Given the description of an element on the screen output the (x, y) to click on. 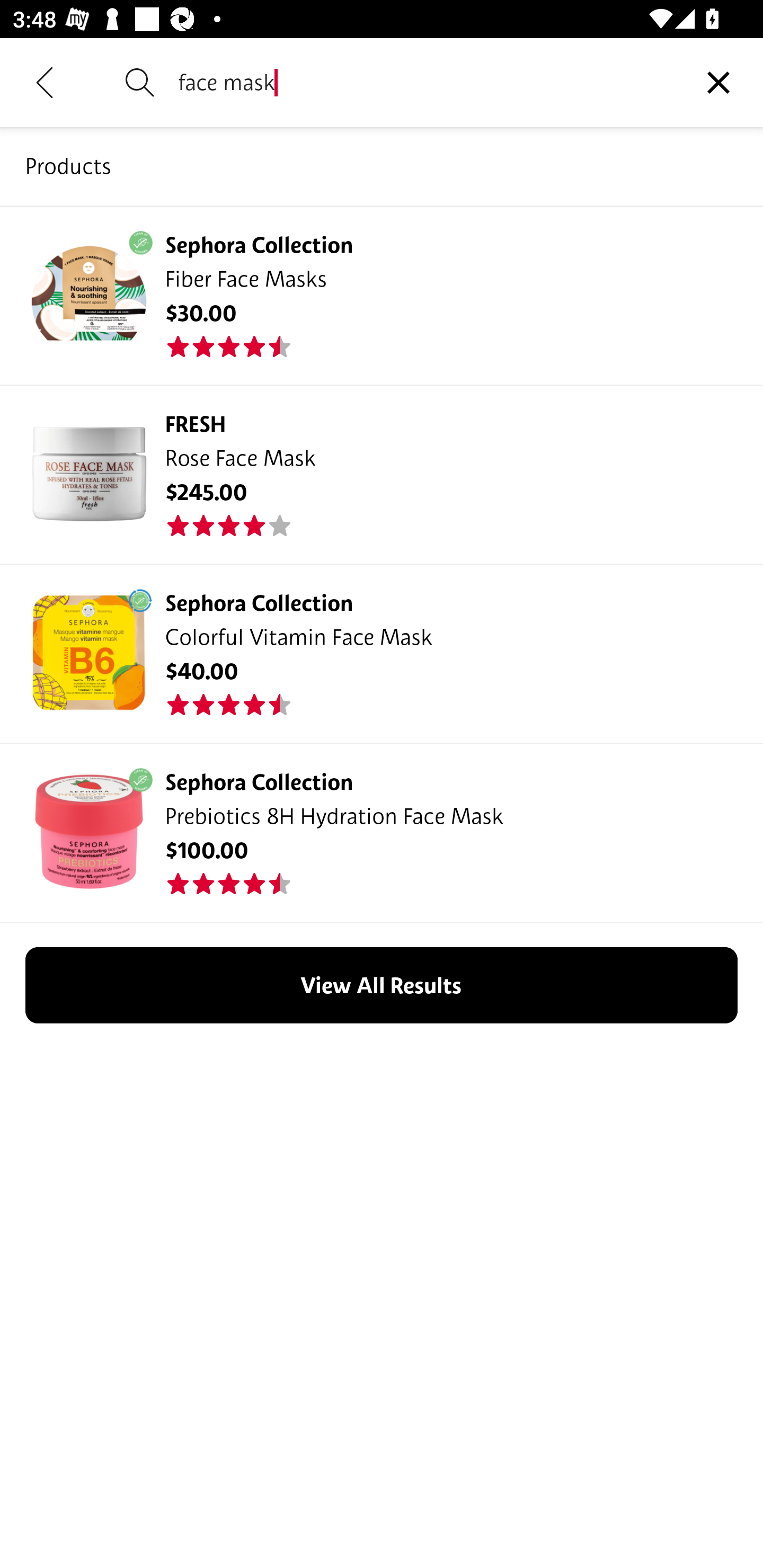
Navigate up (44, 82)
Clear query (718, 81)
face mask (425, 82)
Product Image FRESH Rose Face Mask $245.00 (381, 473)
View All Results (381, 985)
